Given the description of an element on the screen output the (x, y) to click on. 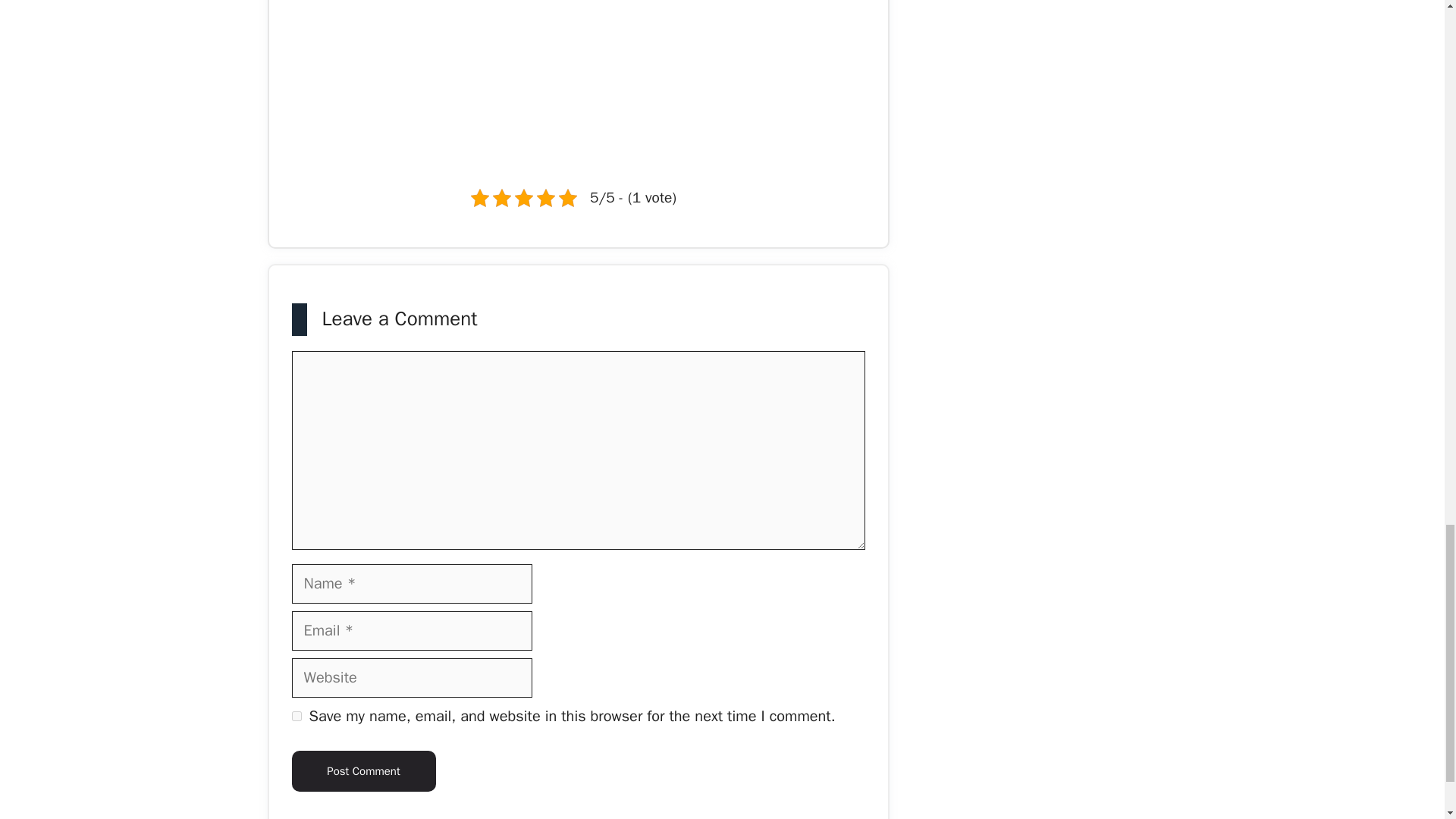
Post Comment (363, 771)
Post Comment (363, 771)
yes (296, 716)
